Given the description of an element on the screen output the (x, y) to click on. 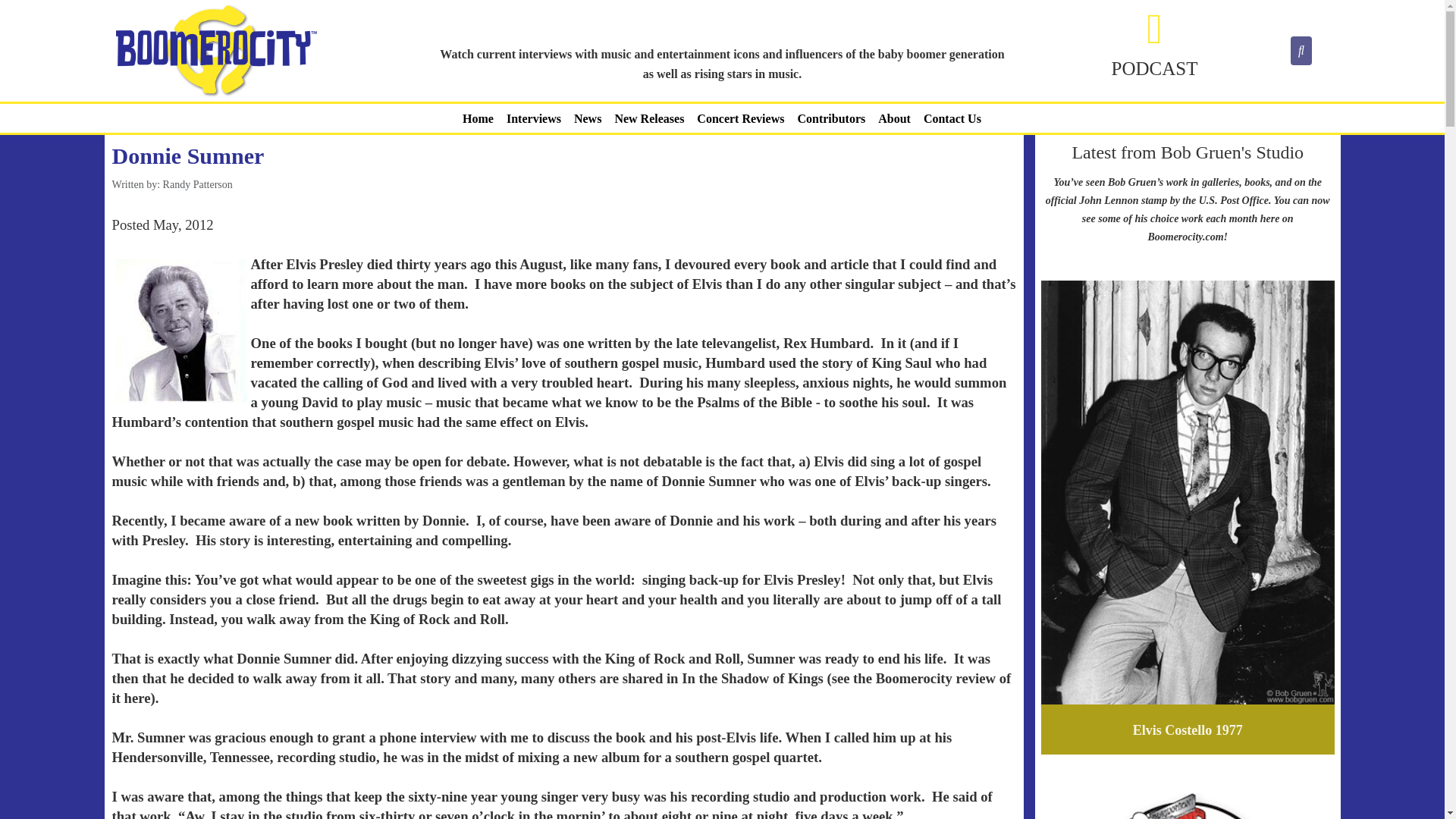
Concert Reviews (741, 118)
Interviews (534, 118)
New Releases (649, 118)
About (894, 118)
Contact Us (951, 118)
Home (477, 118)
News (587, 118)
